Given the description of an element on the screen output the (x, y) to click on. 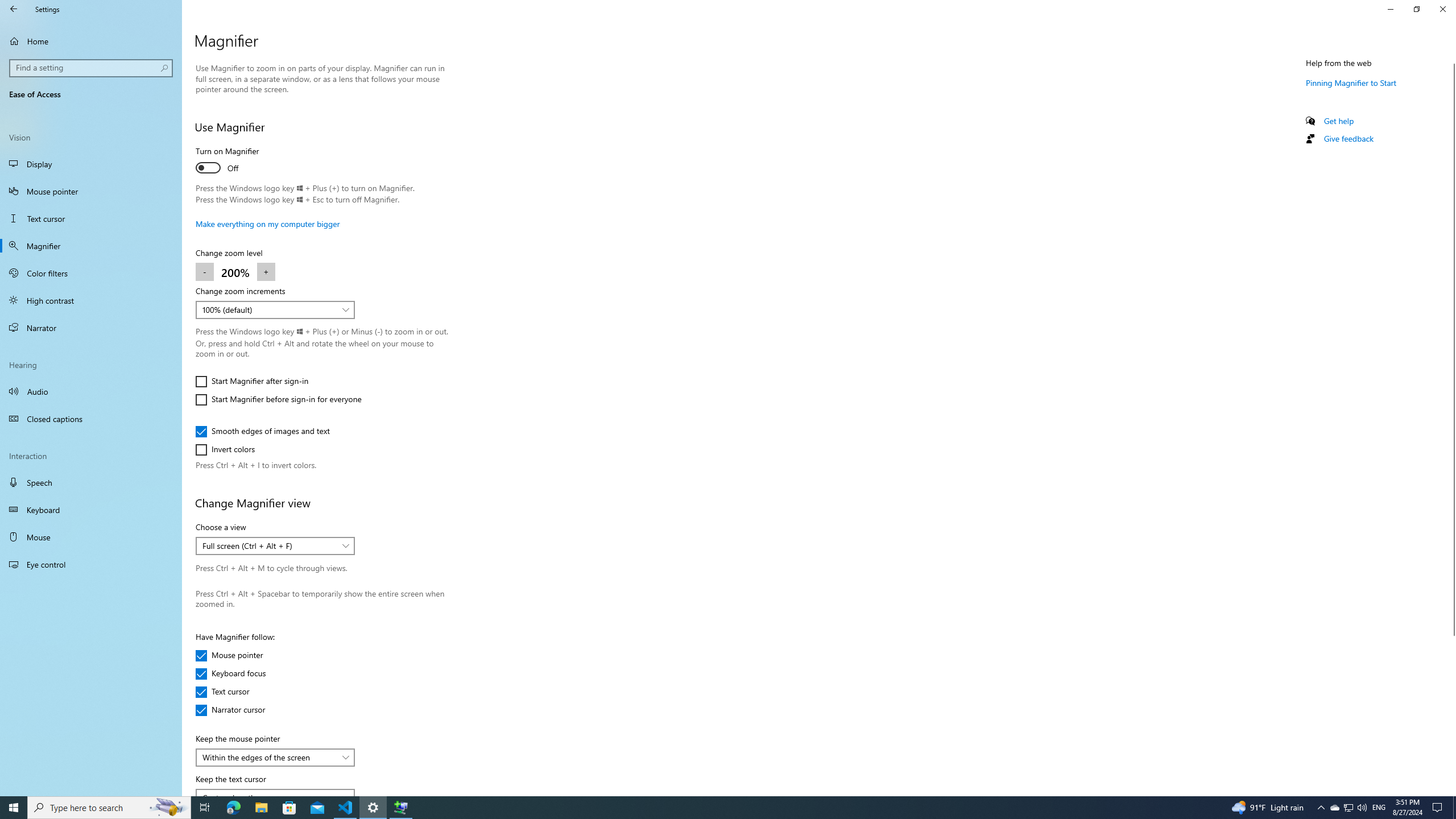
High contrast (91, 299)
Vertical Large Increase (1451, 711)
Zoom out (204, 271)
Vertical (1347, 807)
Speech (1451, 425)
Type here to search (91, 482)
Get help (108, 807)
Vertical Small Increase (1338, 120)
Mouse pointer (1451, 791)
Change zoom increments (229, 656)
Visual Studio Code - 1 running window (275, 309)
Tray Input Indicator - English (United States) (345, 807)
Audio (1378, 807)
Extensible Wizards Host Process - 1 running window (91, 390)
